Given the description of an element on the screen output the (x, y) to click on. 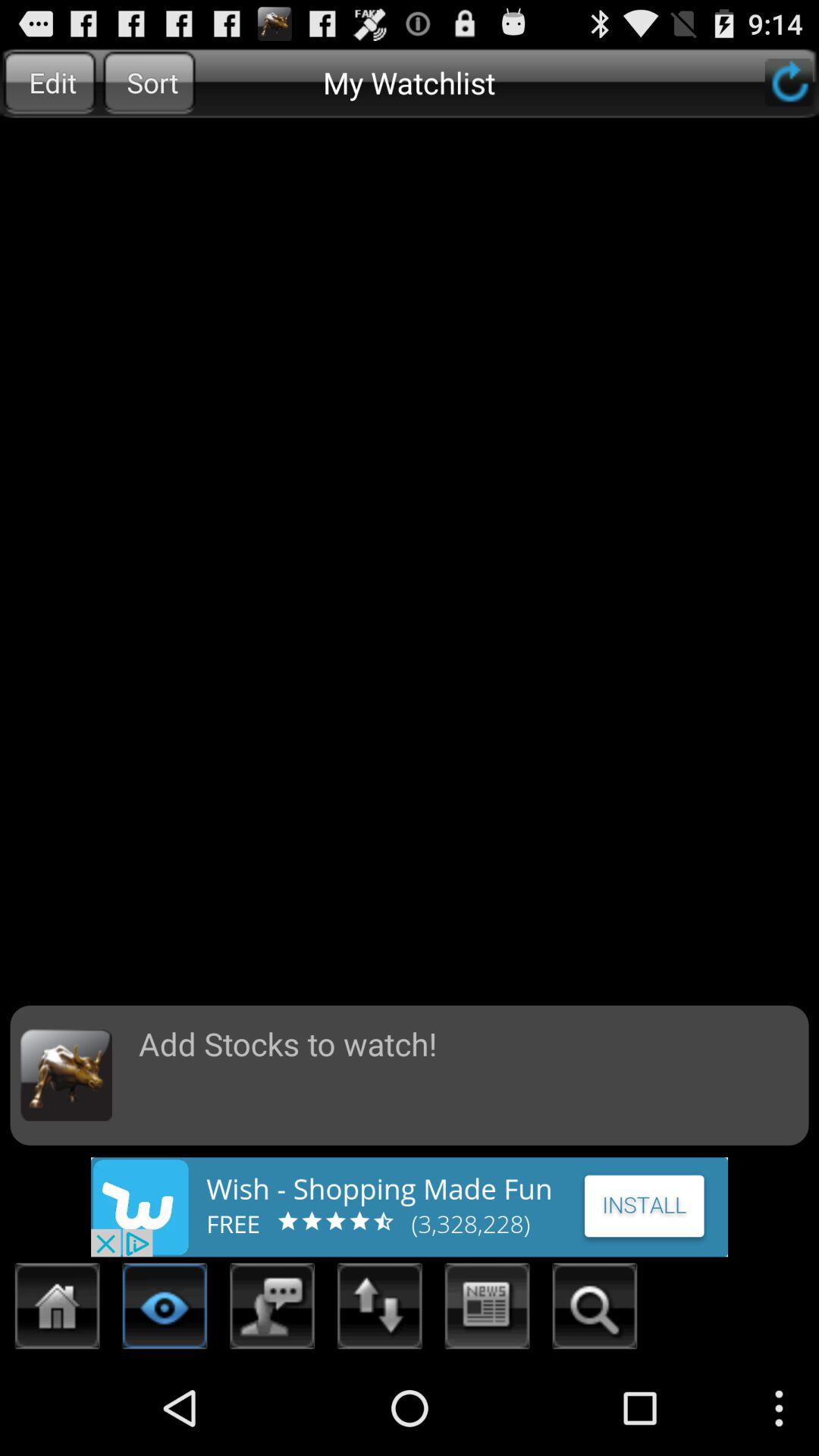
reading mode (164, 1310)
